Given the description of an element on the screen output the (x, y) to click on. 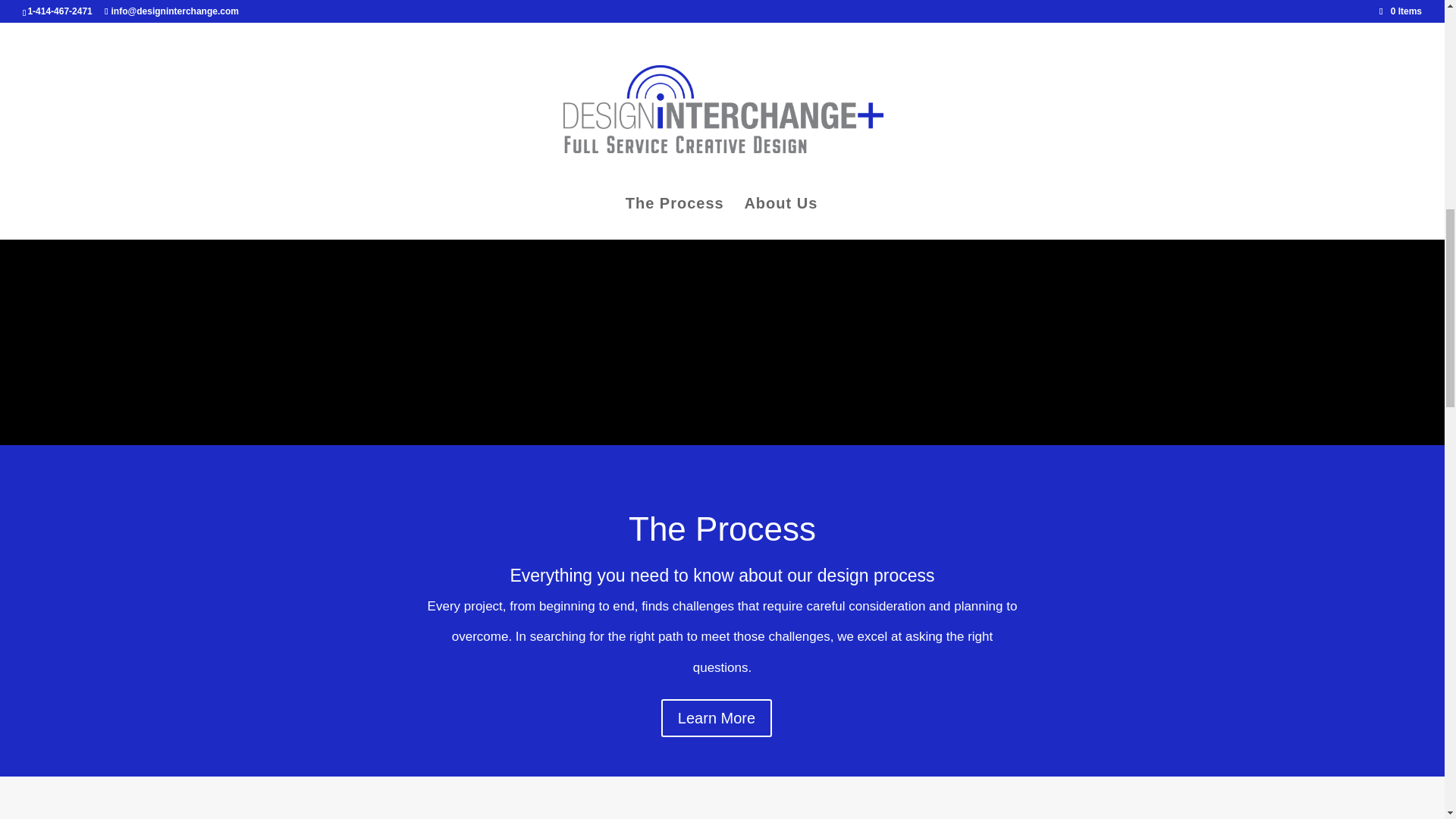
Learn More (716, 718)
